Given the description of an element on the screen output the (x, y) to click on. 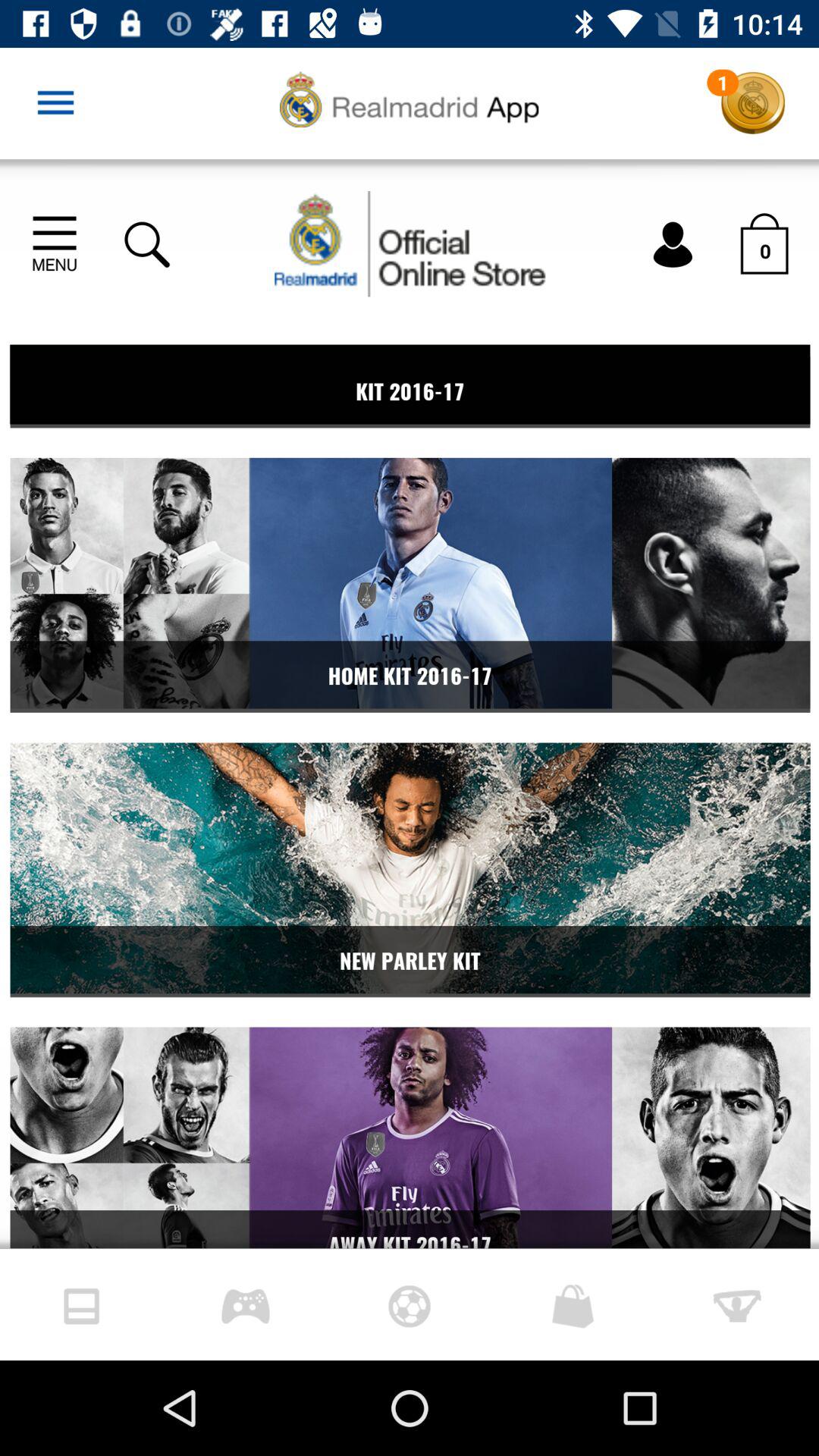
go to menu (55, 103)
